Given the description of an element on the screen output the (x, y) to click on. 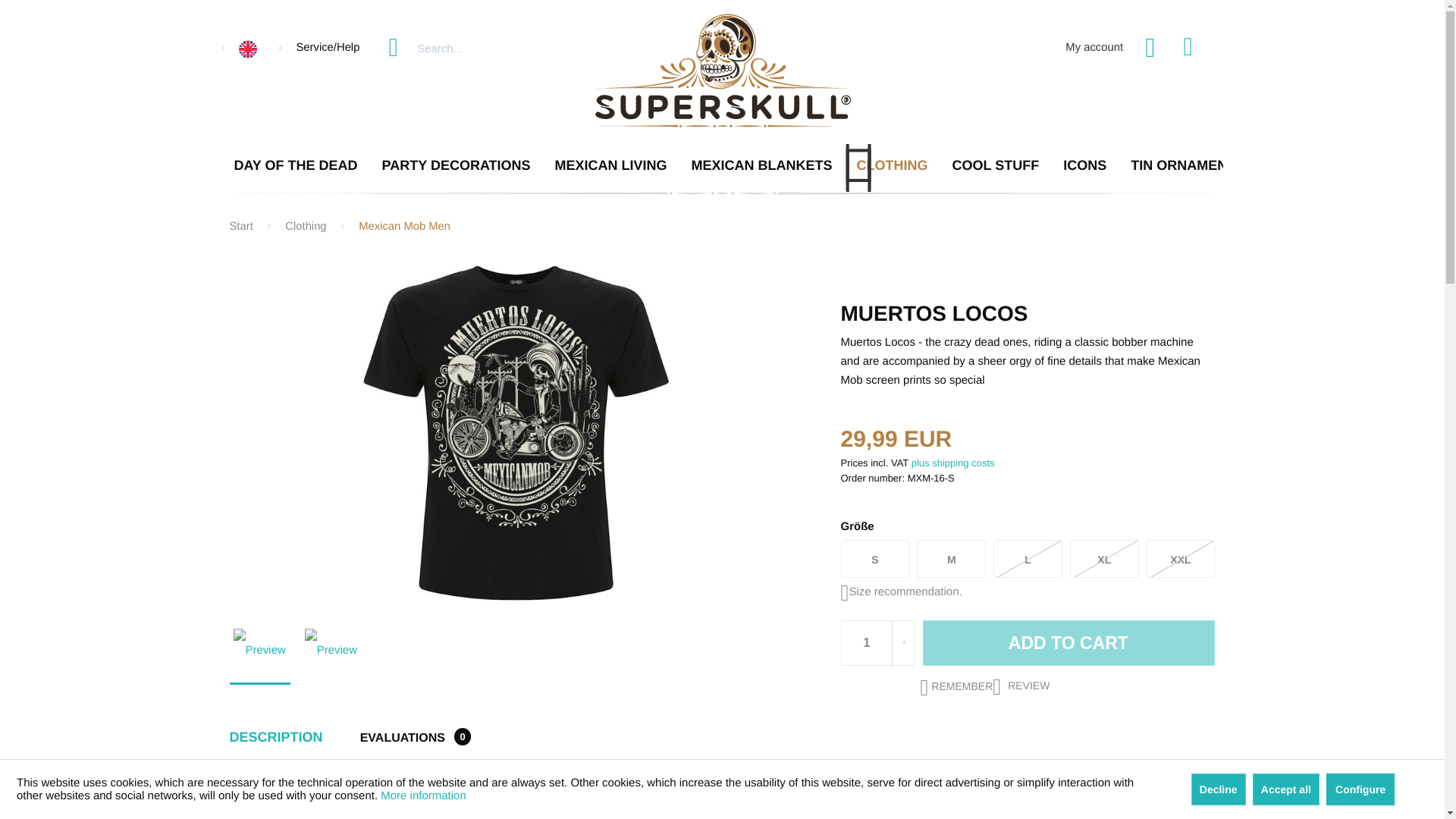
TIN ORNAMENTS (1187, 167)
CLOTHING (892, 167)
DAY OF THE DEAD (295, 167)
Mexican Living (611, 167)
My account (1098, 49)
Wish list (1149, 49)
Superskull - Switch to homepage (721, 71)
PARTY DECORATIONS (456, 167)
Icons (1084, 167)
ICONS (1084, 167)
Shopping cart (1199, 49)
Tin Ornaments (1187, 167)
Cool Stuff (995, 167)
ICONS (1084, 167)
